Given the description of an element on the screen output the (x, y) to click on. 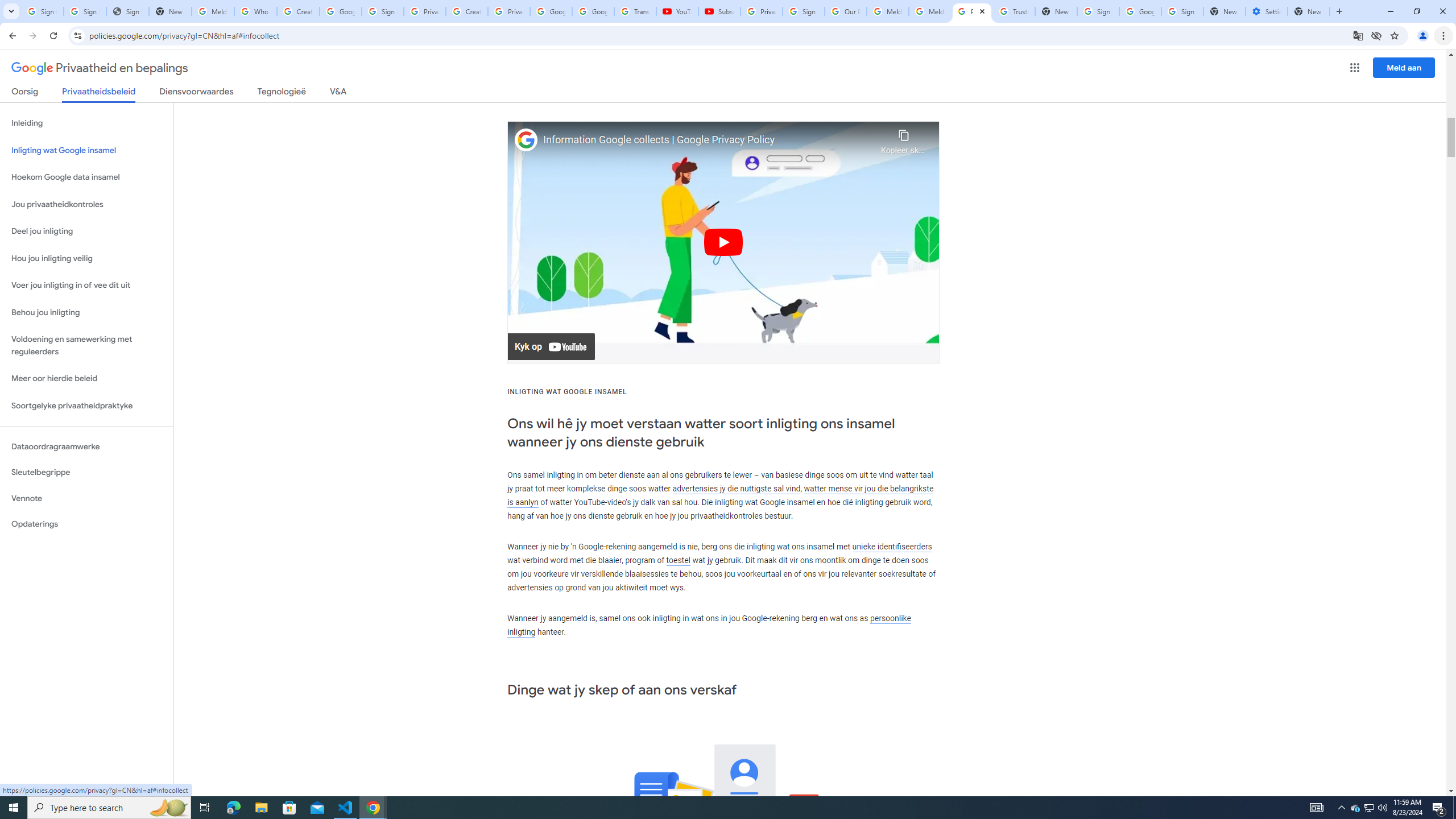
Hou jou inligting veilig (86, 258)
Opdaterings (86, 524)
unieke identifiseerders (891, 546)
Create your Google Account (298, 11)
Dataoordragraamwerke (86, 446)
Inligting wat Google insamel (86, 150)
Fotobeeld van Google (526, 139)
YouTube (676, 11)
Address and search bar (717, 35)
Translate this page (1358, 35)
Behou jou inligting (86, 312)
Third-party cookies blocked (1376, 35)
Meld aan (1404, 67)
